Given the description of an element on the screen output the (x, y) to click on. 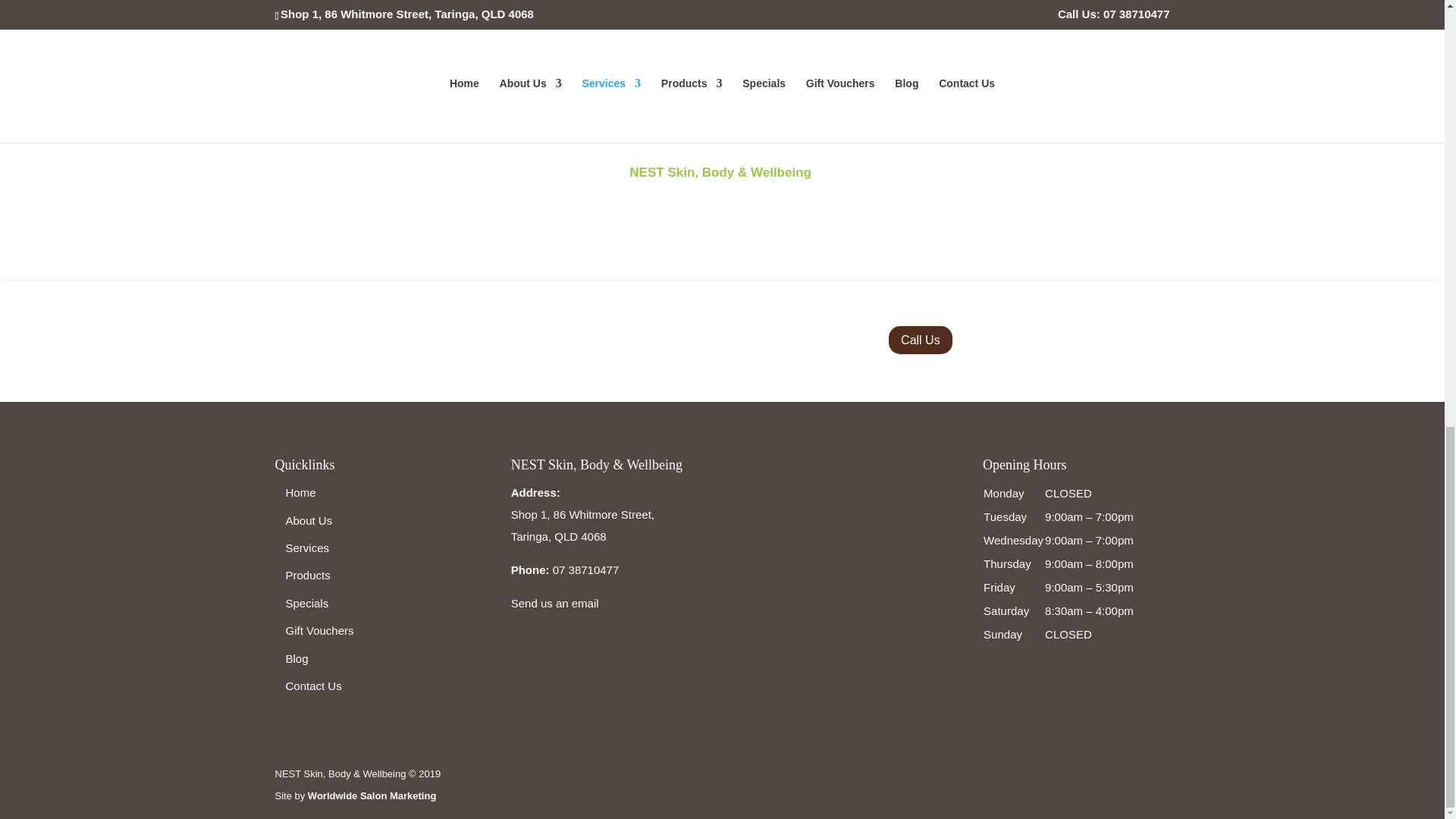
Worldwide Salon Marketing (371, 795)
Blog (296, 658)
Products (307, 574)
Call Us (920, 339)
07 38710477 (586, 569)
About Us (308, 520)
Contact Us (312, 685)
Send us an email (554, 603)
Specials (307, 603)
Services (307, 547)
